Given the description of an element on the screen output the (x, y) to click on. 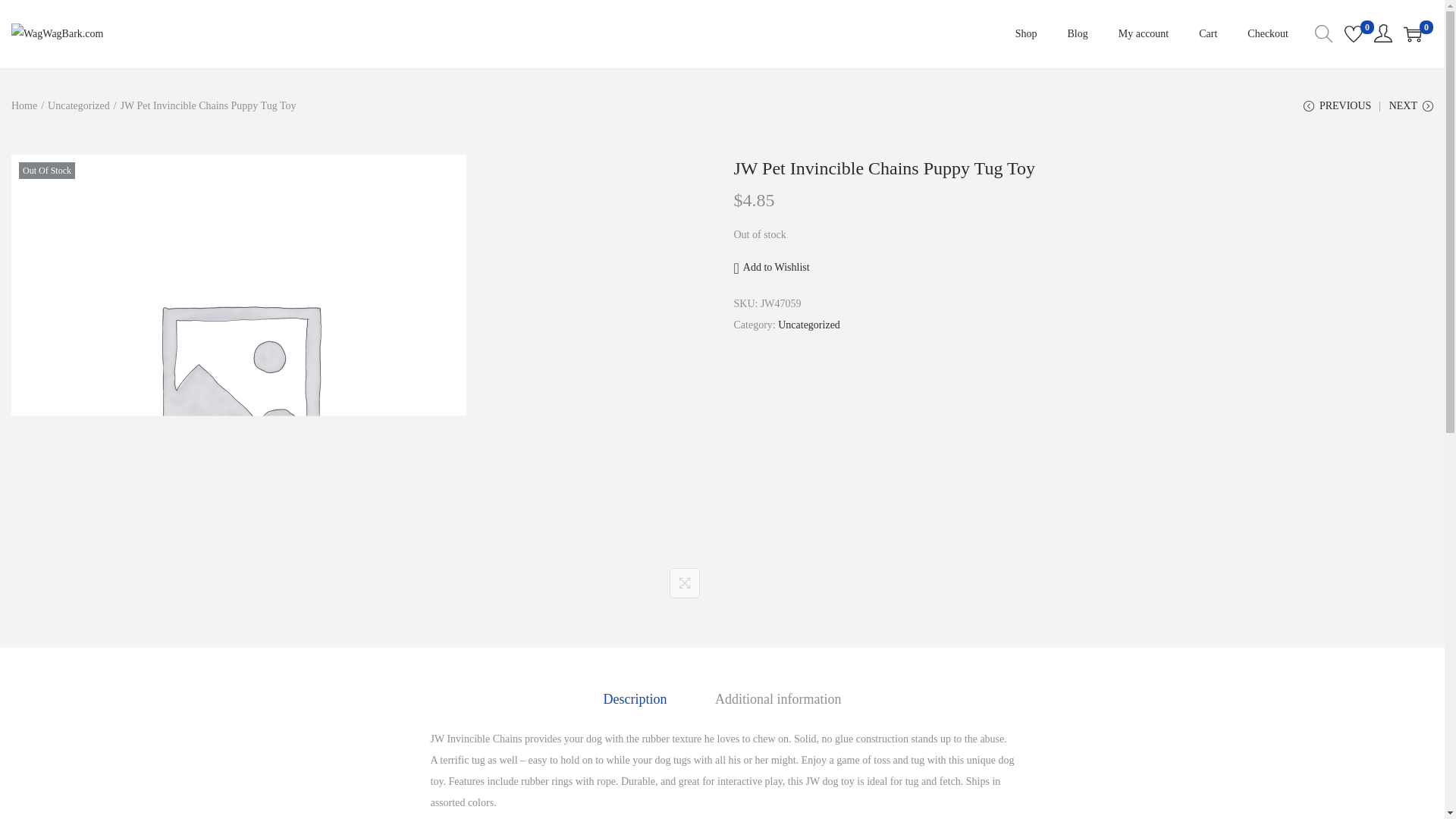
Uncategorized (79, 105)
Additional information (777, 699)
PREVIOUS (1337, 111)
Description (635, 699)
0 (1352, 34)
JW Pet Invincible Chains Puppy Tug Toy (884, 168)
Home (24, 105)
Uncategorized (808, 324)
NEXT (1410, 111)
